Given the description of an element on the screen output the (x, y) to click on. 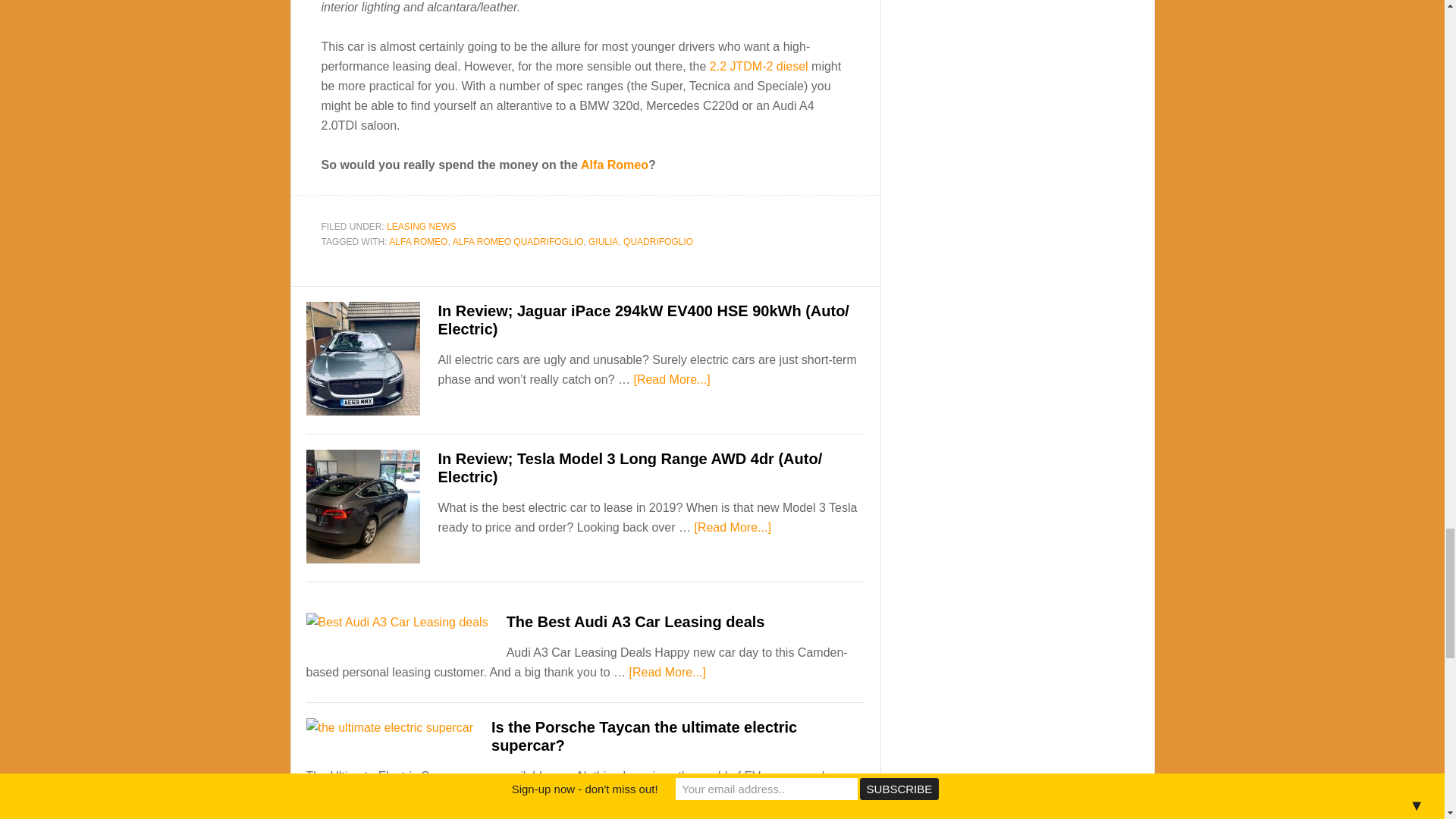
ALFA ROMEO (417, 241)
2.2 JTDM-2 diesel (759, 65)
ALFA ROMEO QUADRIFOGLIO (517, 241)
The Best Audi A3 Car Leasing deals (635, 621)
Is the Porsche Taycan the ultimate electric supercar? (644, 736)
Alfa Romeo (613, 164)
QUADRIFOGLIO (658, 241)
GIULIA (602, 241)
LEASING NEWS (421, 226)
